Given the description of an element on the screen output the (x, y) to click on. 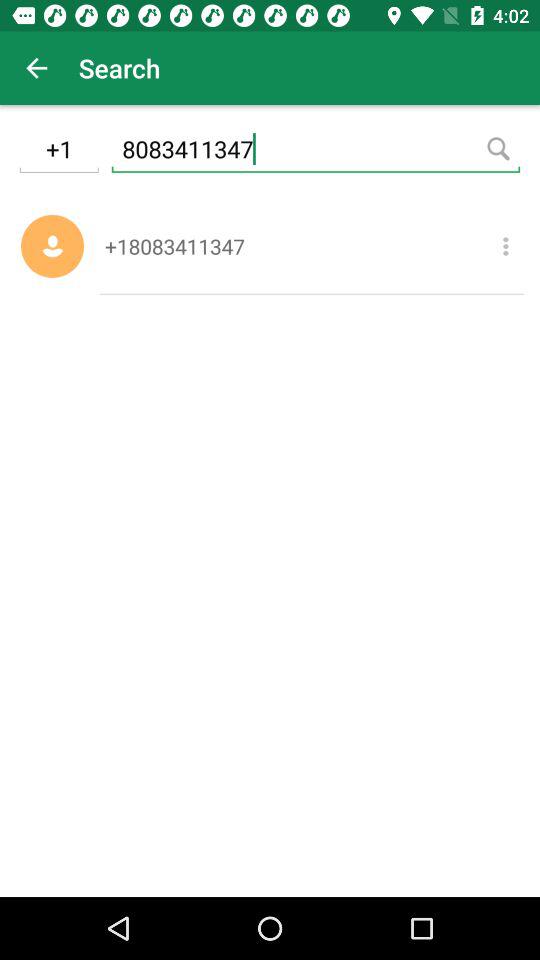
open the icon above the +18083411347 item (315, 151)
